Given the description of an element on the screen output the (x, y) to click on. 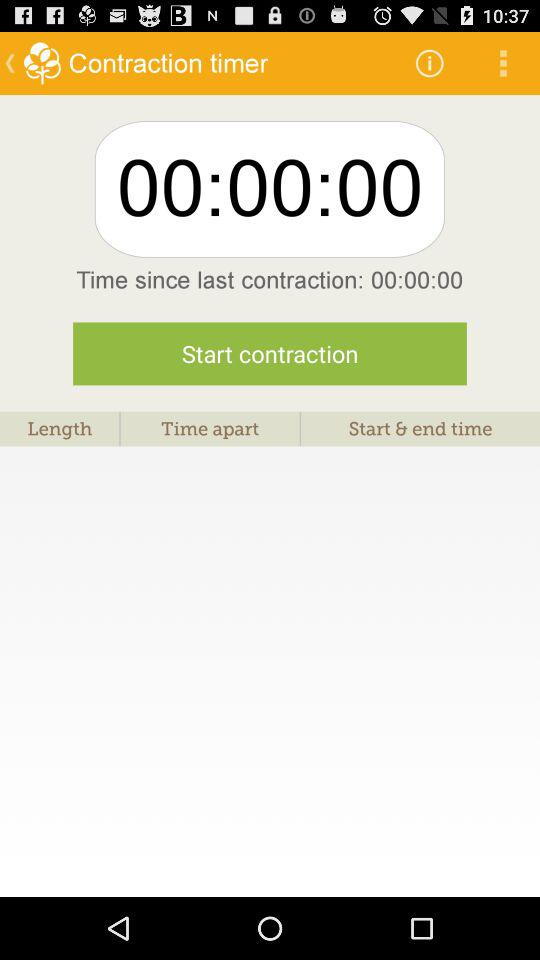
launch the icon below time since last item (269, 353)
